Given the description of an element on the screen output the (x, y) to click on. 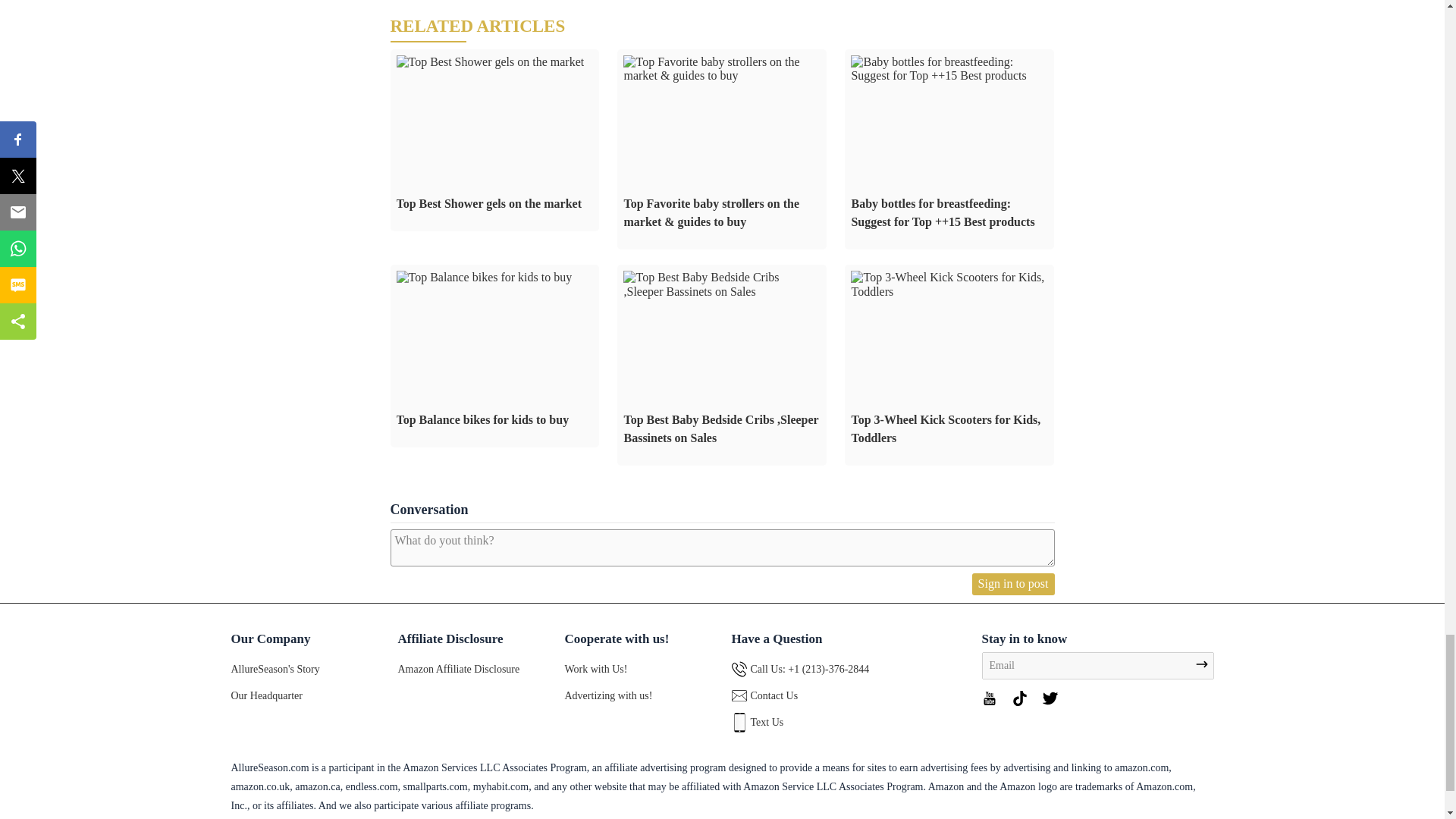
Top Best Shower gels on the market (489, 60)
Top Best Baby Bedside Cribs ,Sleeper Bassinets on Sales (722, 284)
Sign in to post (1013, 583)
Top Balance bikes for kids to buy (484, 277)
Top 3-Wheel Kick Scooters for Kids, Toddlers (949, 365)
Our Headquarter (265, 695)
Top 3-Wheel Kick Scooters for Kids, Toddlers (949, 284)
Top Best Baby Bedside Cribs ,Sleeper Bassinets on Sales (722, 365)
AllureSeason's Story (274, 668)
Amazon Affiliate Disclosure (458, 668)
Top Best Shower gels on the market (494, 139)
Top Balance bikes for kids to buy (494, 355)
